Given the description of an element on the screen output the (x, y) to click on. 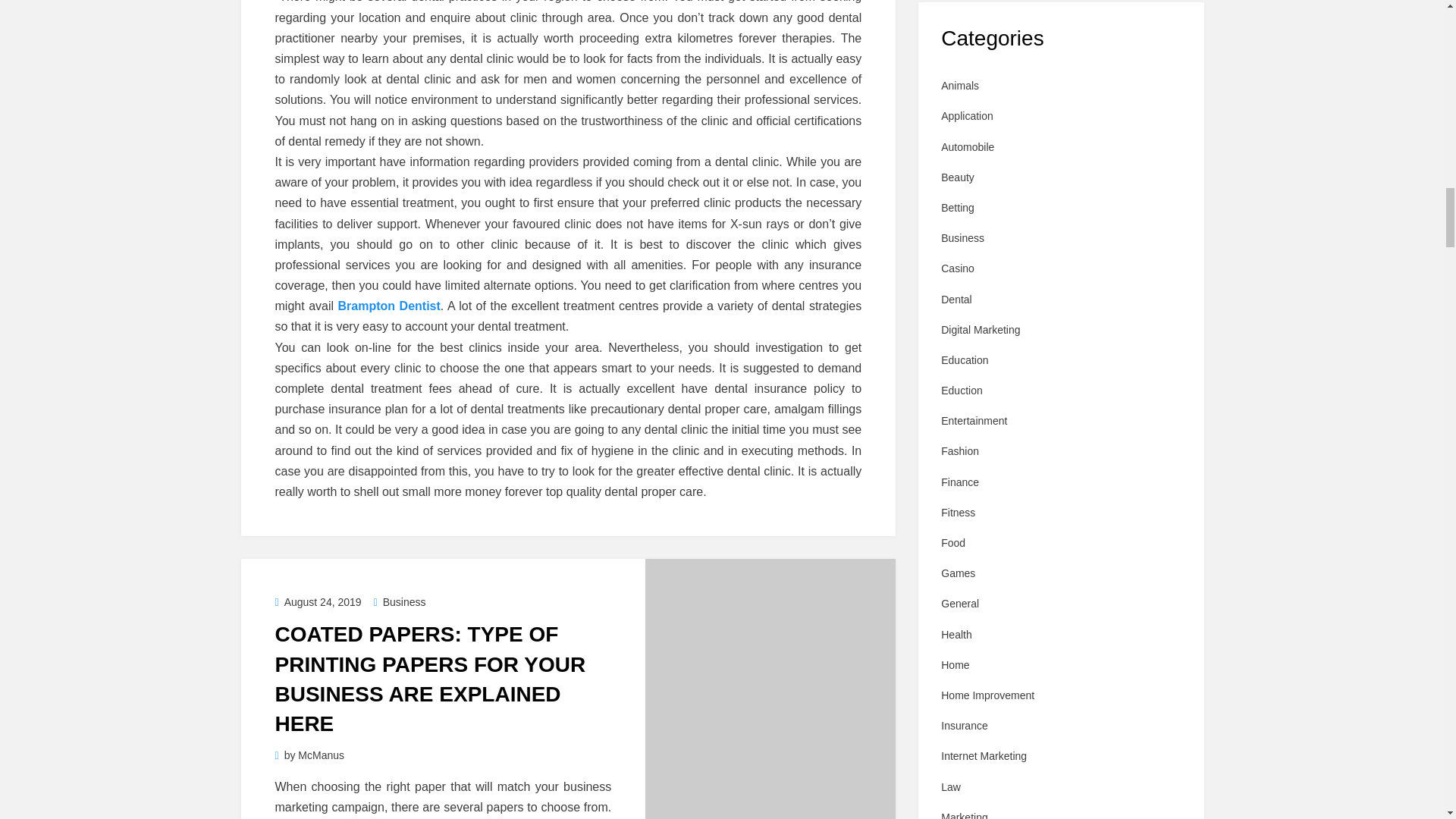
McManus (320, 755)
Business (400, 602)
Brampton Dentist (389, 305)
Business (400, 602)
August 24, 2019 (318, 602)
